Given the description of an element on the screen output the (x, y) to click on. 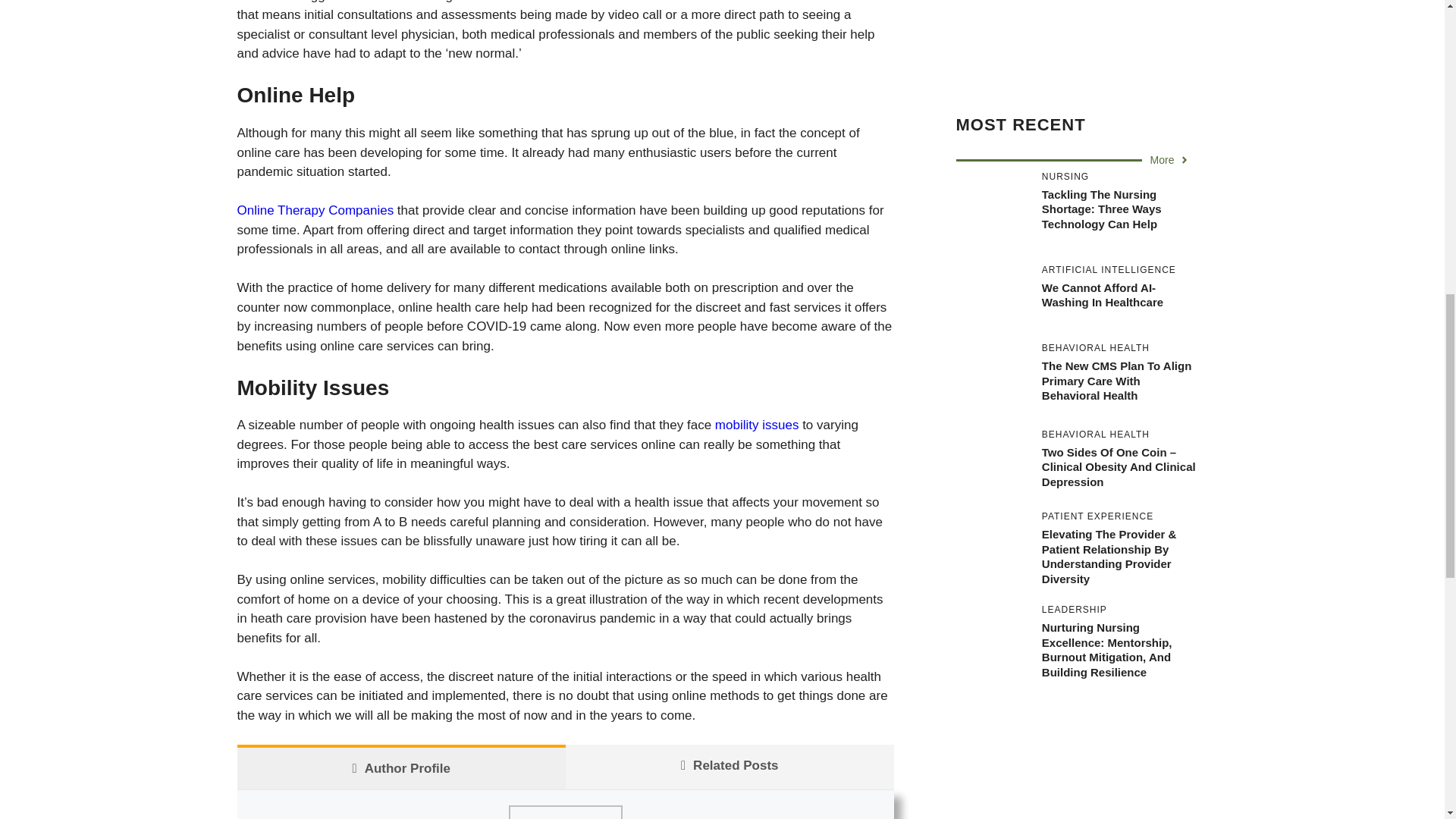
How to access the best care services online 1 (564, 812)
Online Therapy Companies (314, 210)
mobility issues (756, 424)
